Given the description of an element on the screen output the (x, y) to click on. 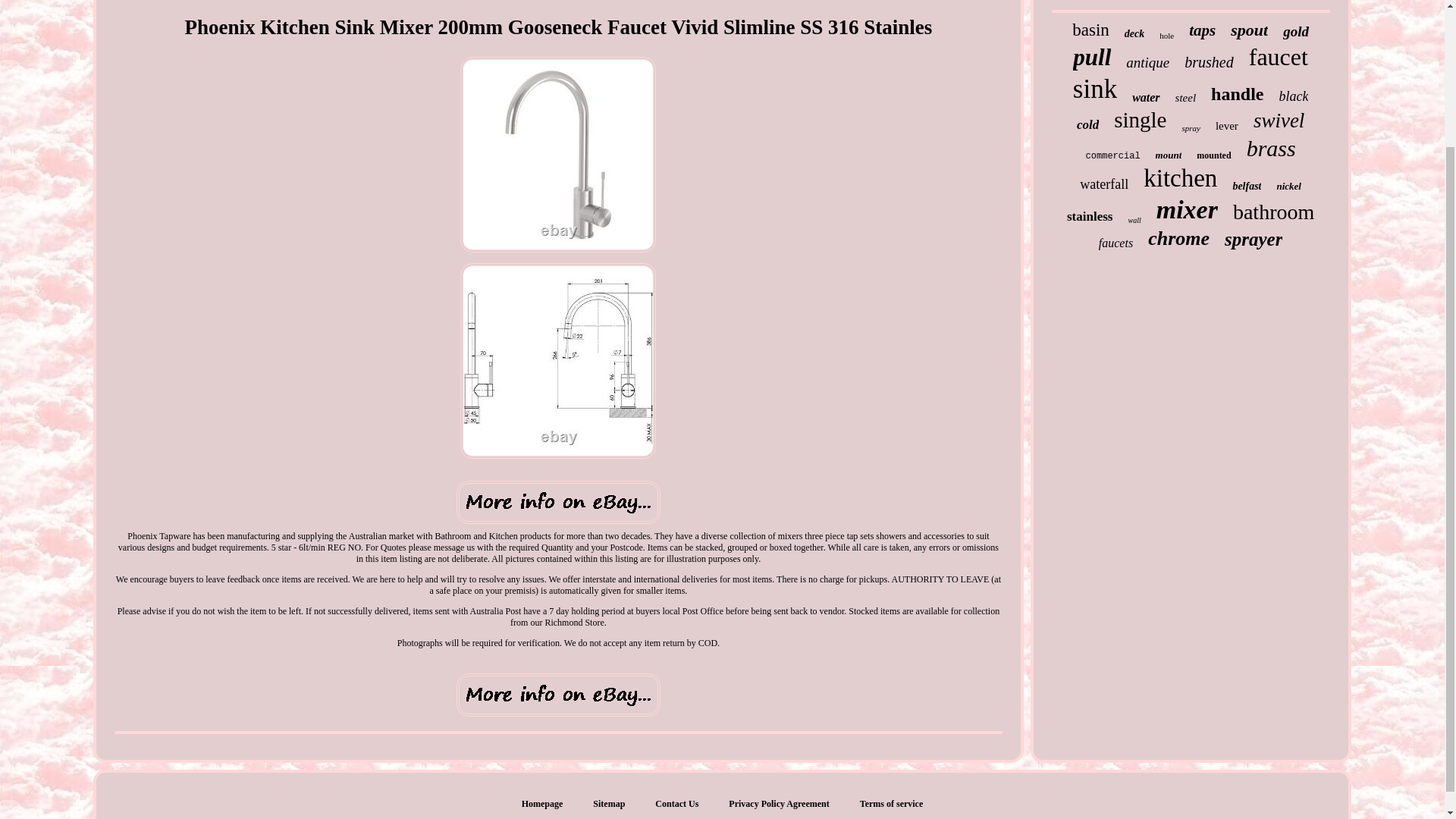
waterfall (1104, 184)
deck (1134, 33)
belfast (1245, 186)
faucet (1278, 57)
water (1145, 97)
swivel (1278, 120)
basin (1090, 30)
antique (1147, 62)
steel (1185, 97)
brushed (1209, 62)
cold (1088, 124)
black (1292, 96)
hole (1165, 35)
